Given the description of an element on the screen output the (x, y) to click on. 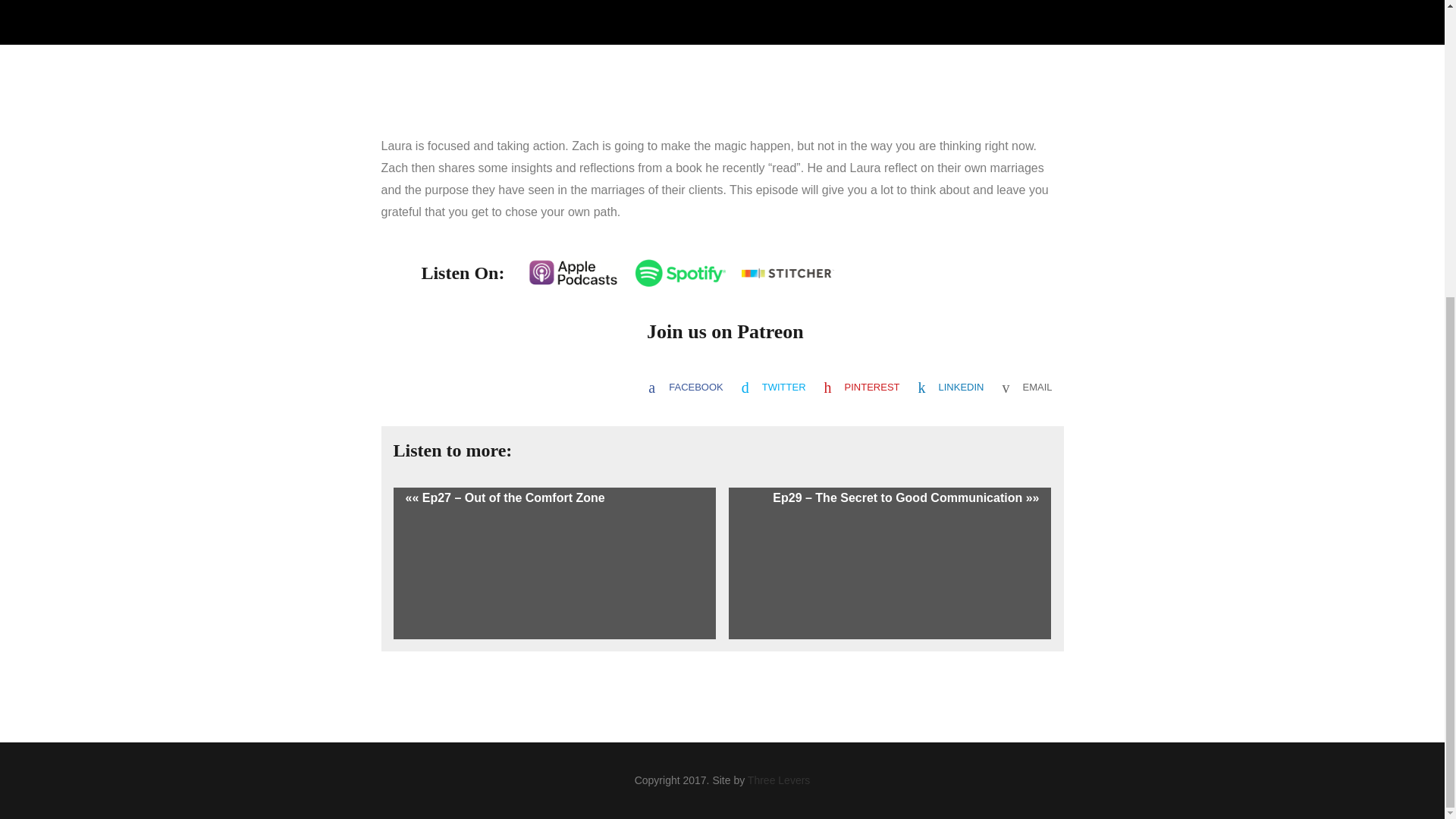
TWITTER (774, 386)
LINKEDIN (951, 386)
PINTEREST (861, 386)
FACEBOOK (686, 386)
EMAIL (1026, 386)
